Given the description of an element on the screen output the (x, y) to click on. 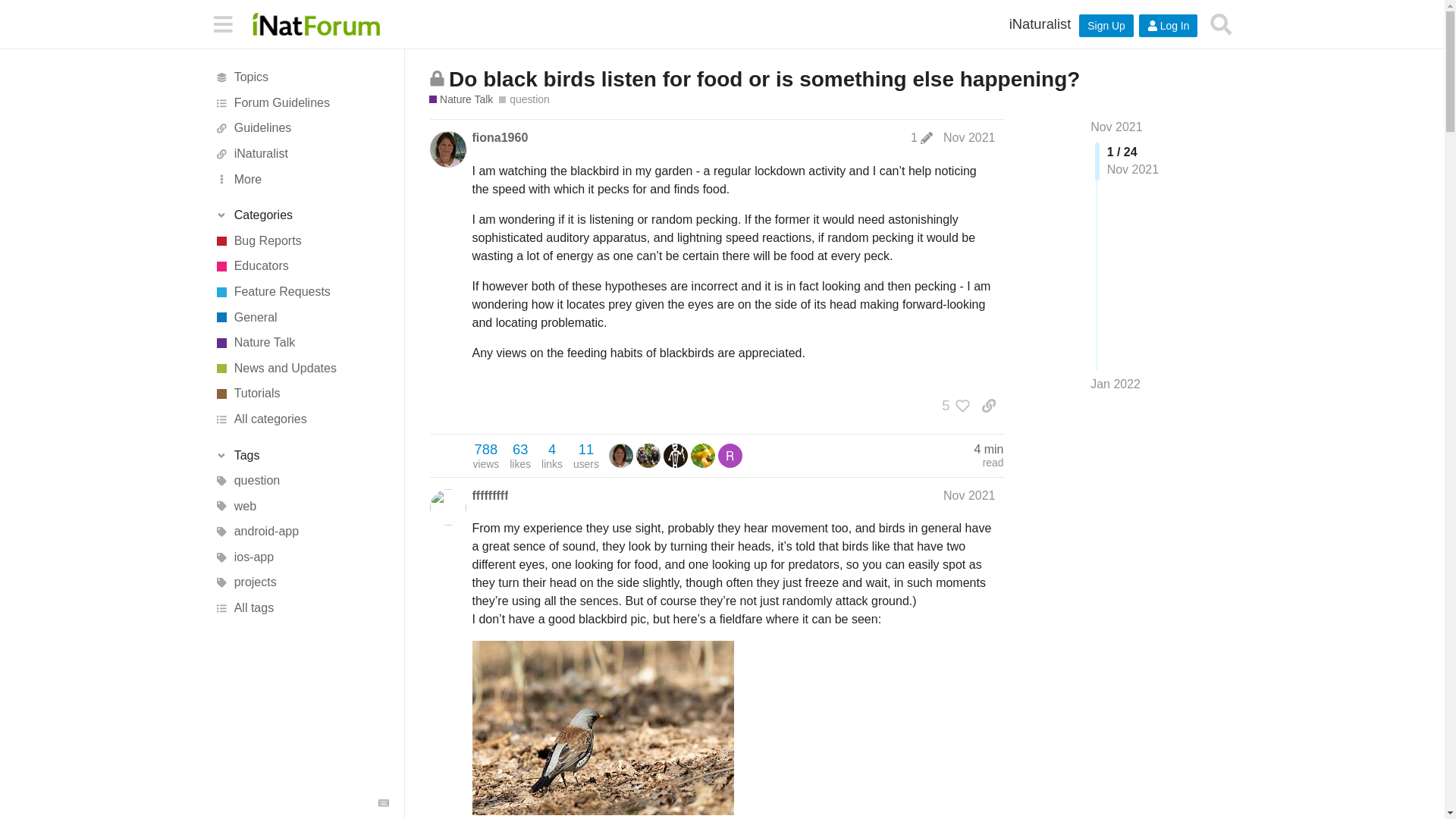
More (301, 179)
General (301, 317)
News and Updates (301, 368)
Nov 2021 (969, 137)
Sign Up (1105, 25)
Topics (301, 77)
All categories (301, 419)
